Given the description of an element on the screen output the (x, y) to click on. 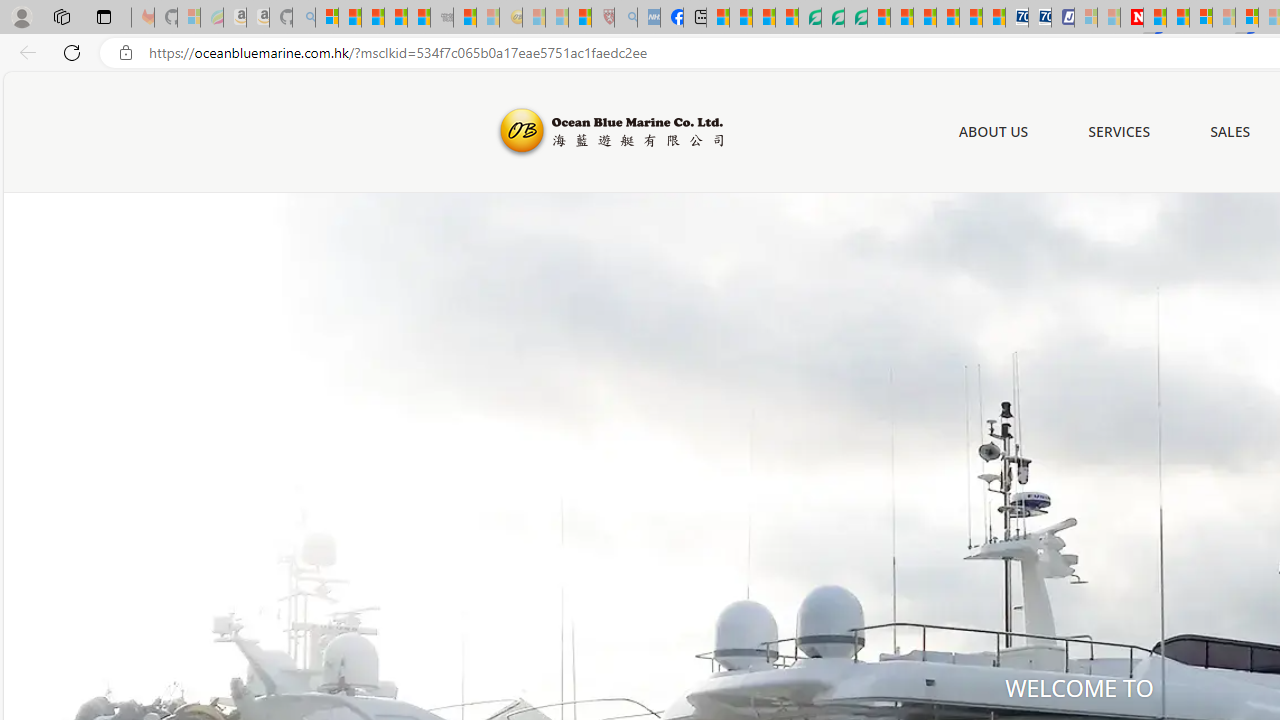
New Report Confirms 2023 Was Record Hot | Watch (419, 17)
SERVICES (1119, 132)
Local - MSN (580, 17)
LendingTree - Compare Lenders (809, 17)
